Given the description of an element on the screen output the (x, y) to click on. 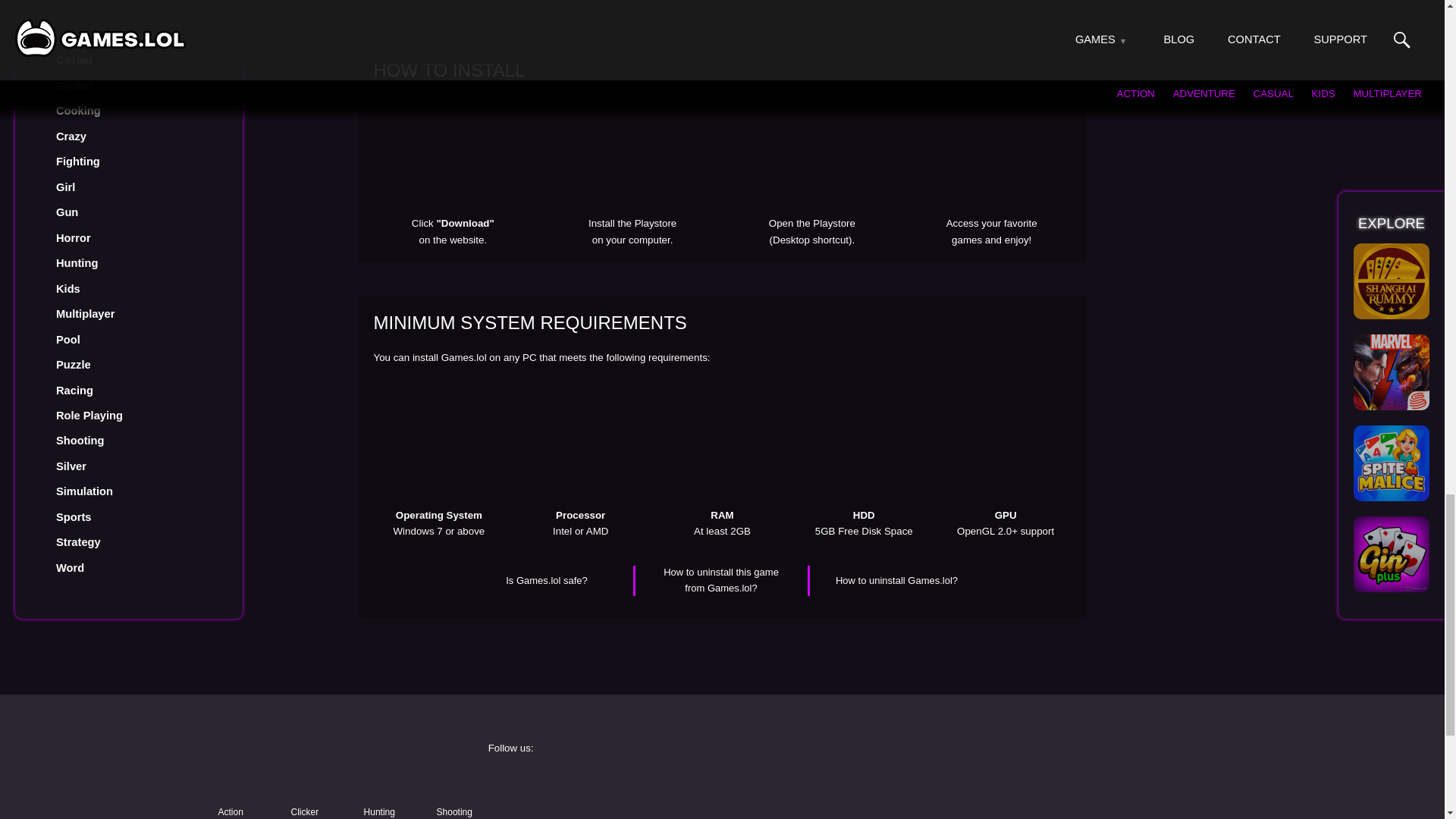
Instagram (838, 783)
Games.lol free game download website logo (319, 762)
YouTube (603, 811)
Twitter (1073, 783)
Facebook (603, 783)
Discord (838, 811)
